Given the description of an element on the screen output the (x, y) to click on. 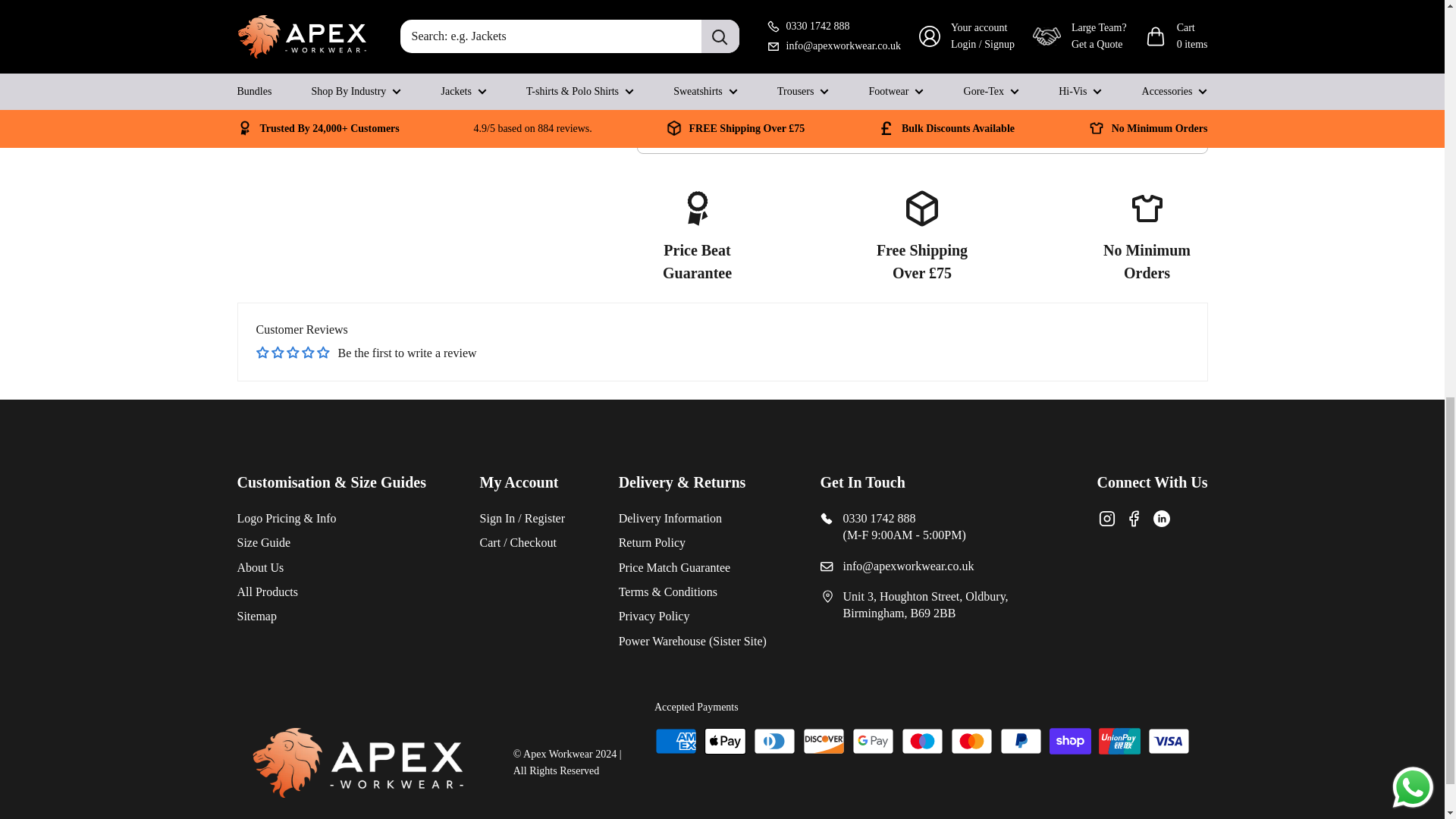
tel:03301742888 (858, 129)
